Given the description of an element on the screen output the (x, y) to click on. 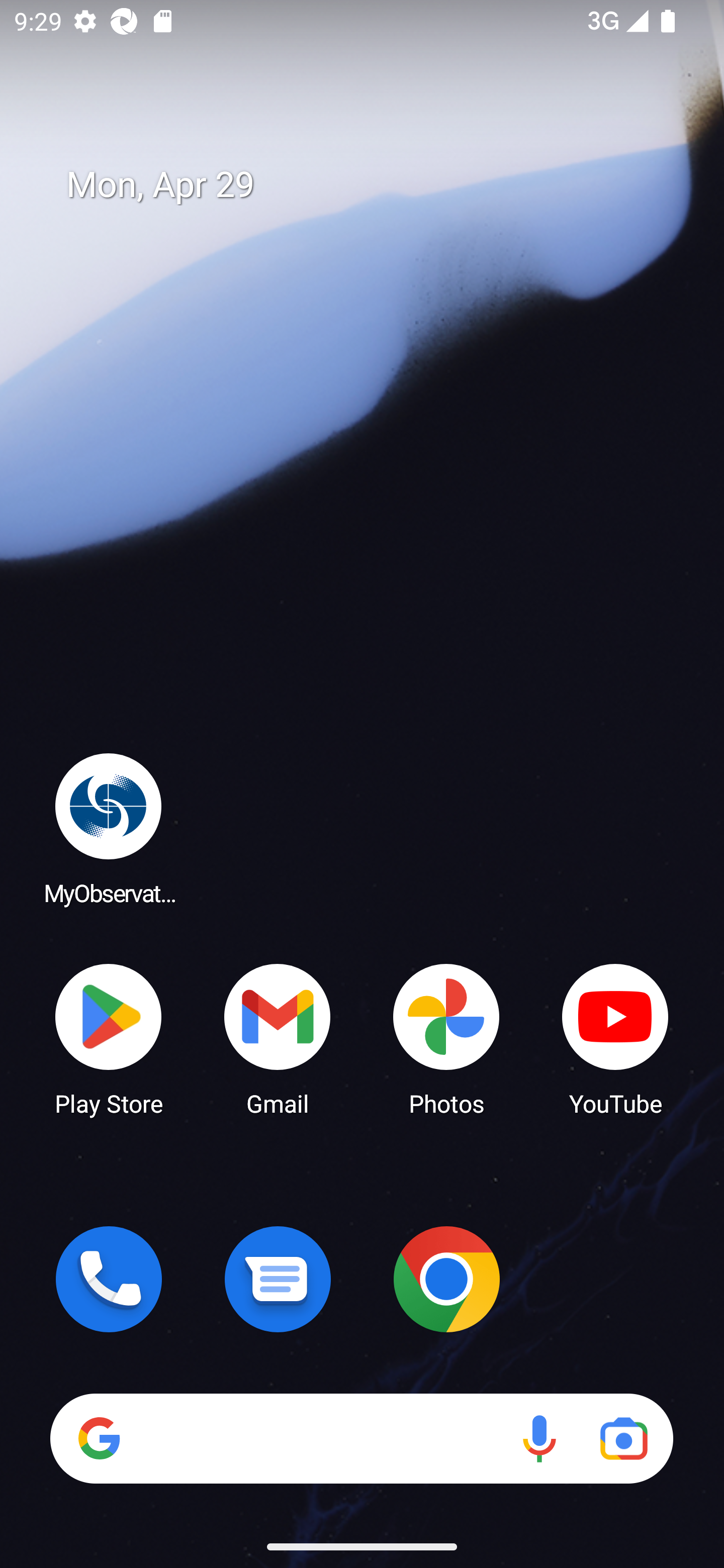
Mon, Apr 29 (375, 184)
MyObservatory (108, 828)
Play Store (108, 1038)
Gmail (277, 1038)
Photos (445, 1038)
YouTube (615, 1038)
Phone (108, 1279)
Messages (277, 1279)
Chrome (446, 1279)
Voice search (539, 1438)
Google Lens (623, 1438)
